Given the description of an element on the screen output the (x, y) to click on. 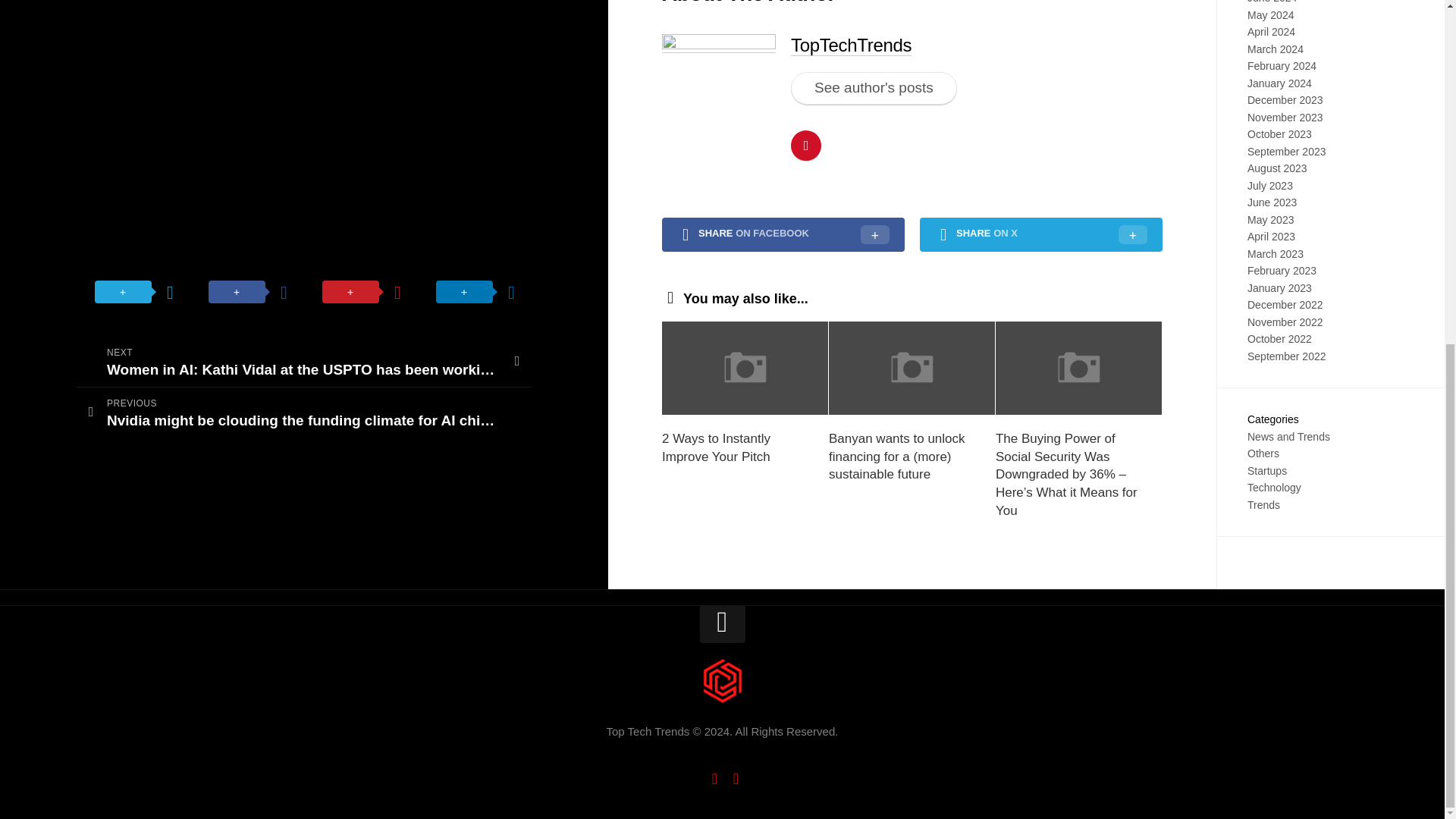
May 2024 (1270, 14)
Twitter (735, 778)
Share on X (133, 7)
SHARE ON X (1040, 234)
See author's posts (873, 88)
TopTechTrends (850, 45)
January 2024 (1279, 82)
Share on LinkedIn (474, 7)
April 2024 (1271, 31)
December 2023 (1285, 100)
November 2023 (1285, 117)
SHARE ON FACEBOOK (783, 234)
June 2024 (1272, 2)
Facebook (714, 778)
